Given the description of an element on the screen output the (x, y) to click on. 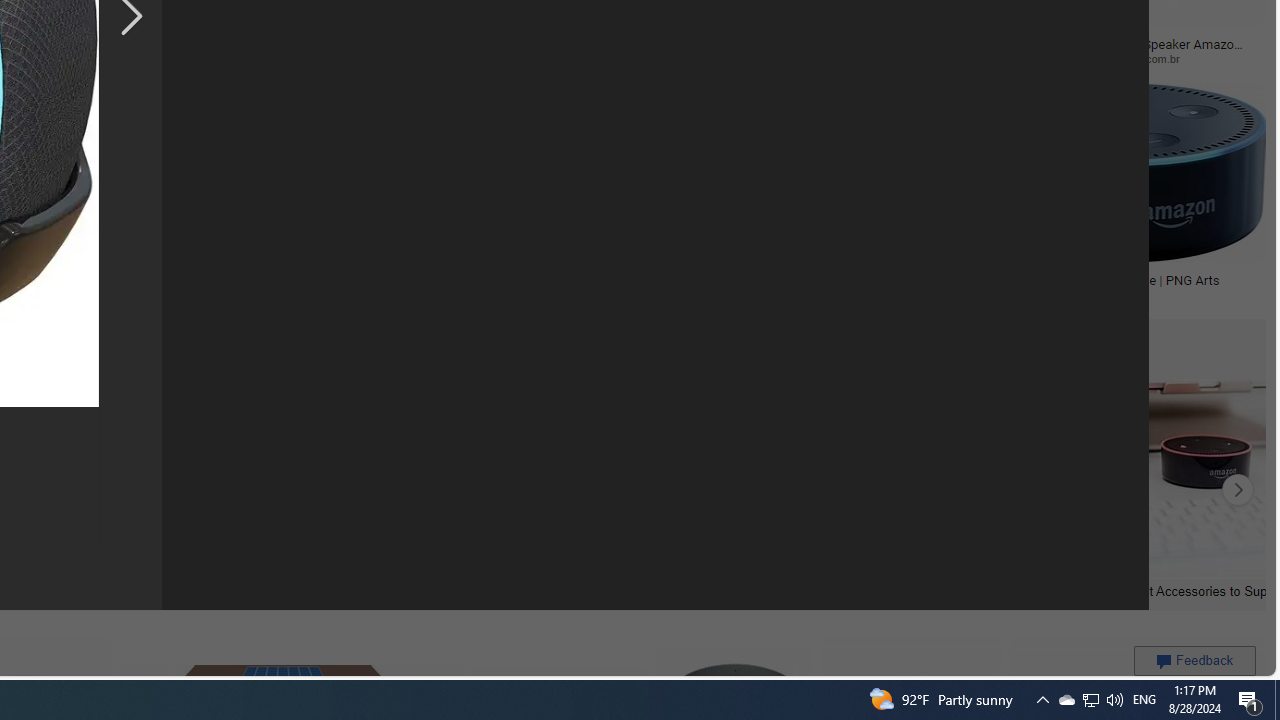
amazon.com.mx (484, 57)
amazon.com.mx (538, 58)
inpower.com.br (1181, 58)
winmaec.com (740, 58)
Alexa Dot Transparent Image | PNG Artspngarts.comSave (1122, 196)
pngarts.com (1026, 294)
pnghq.com (836, 295)
Echo Dot Accessories (175, 589)
energyearth.com (116, 295)
